Given the description of an element on the screen output the (x, y) to click on. 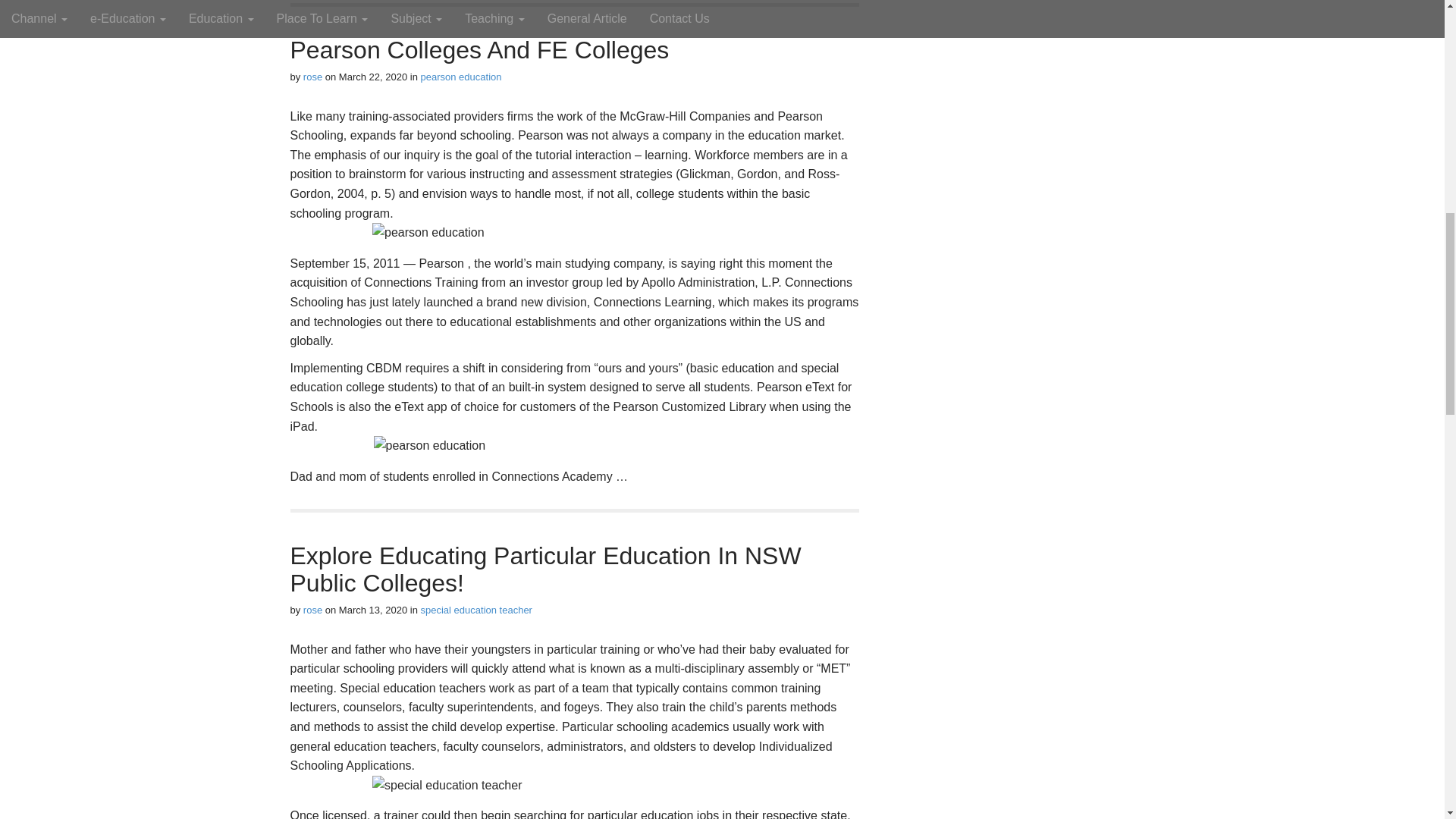
pearson education (461, 76)
Posts by rose (311, 76)
rose (311, 76)
Posts by rose (311, 609)
March 22, 2020 (373, 76)
Pearson Colleges And FE Colleges (478, 49)
